Given the description of an element on the screen output the (x, y) to click on. 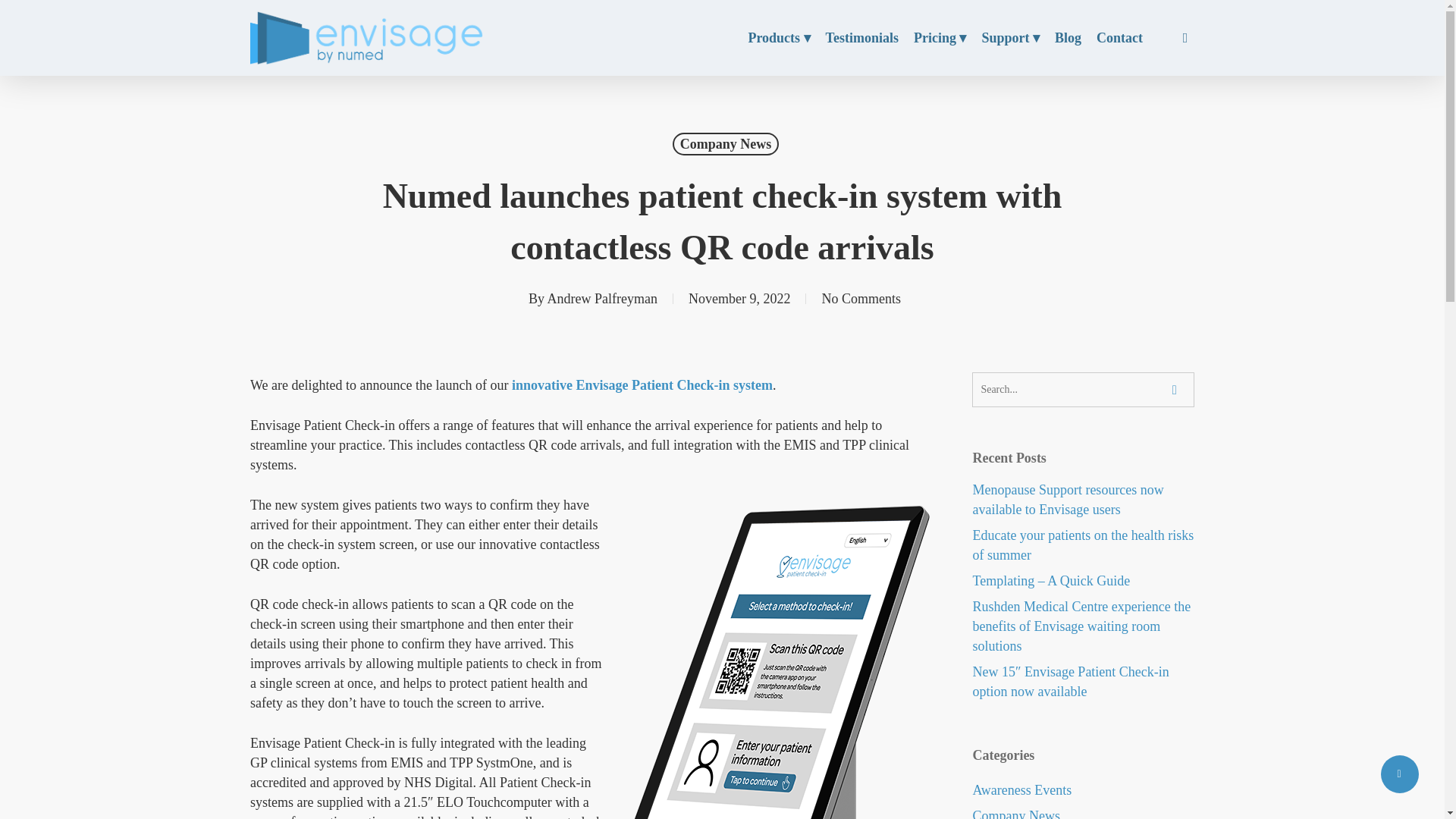
Company News (725, 143)
Posts by Andrew Palfreyman (602, 298)
No Comments (861, 298)
Testimonials (861, 37)
innovative Envisage Patient Check-in system (642, 385)
Search for: (1082, 389)
Contact (1119, 37)
Menopause Support resources now available to Envisage users (1082, 499)
Andrew Palfreyman (602, 298)
Blog (1067, 37)
Company News (1082, 812)
Educate your patients on the health risks of summer (1082, 545)
account (1184, 37)
Awareness Events (1082, 790)
